Given the description of an element on the screen output the (x, y) to click on. 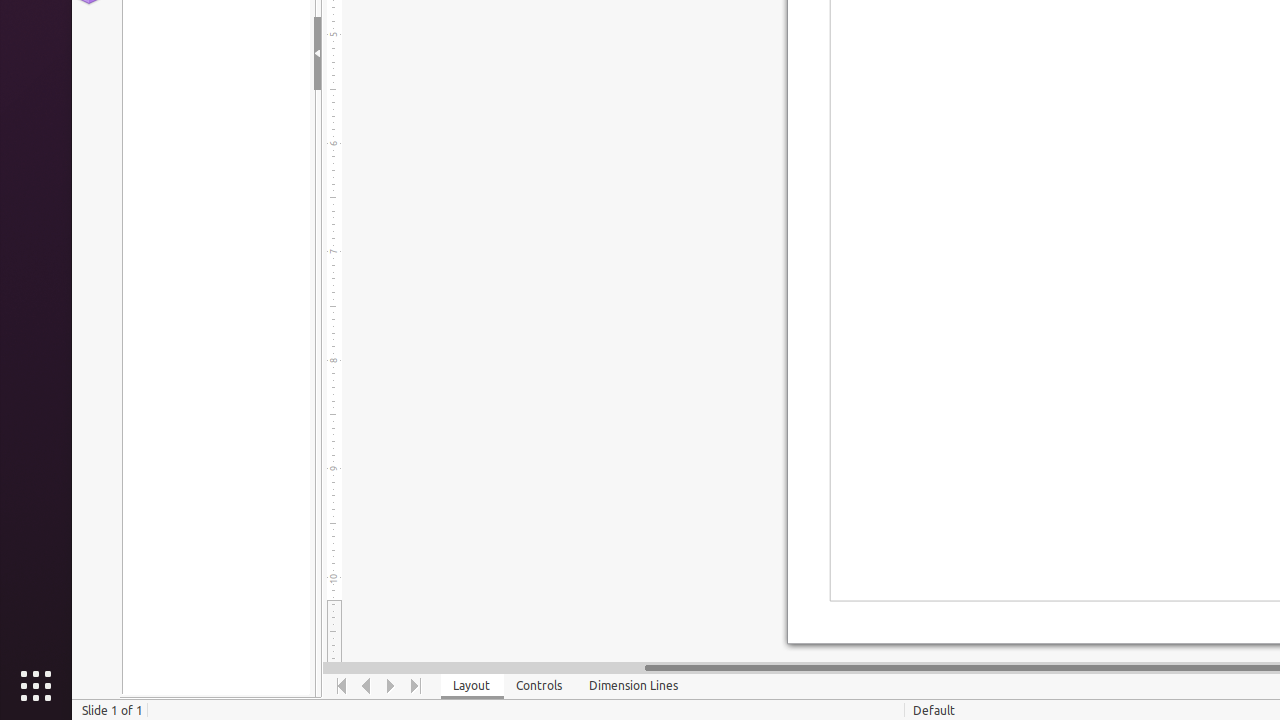
Move To End Element type: push-button (416, 686)
Move Left Element type: push-button (366, 686)
Layout Element type: page-tab (472, 686)
Show Applications Element type: toggle-button (36, 686)
Move To Home Element type: push-button (341, 686)
